Given the description of an element on the screen output the (x, y) to click on. 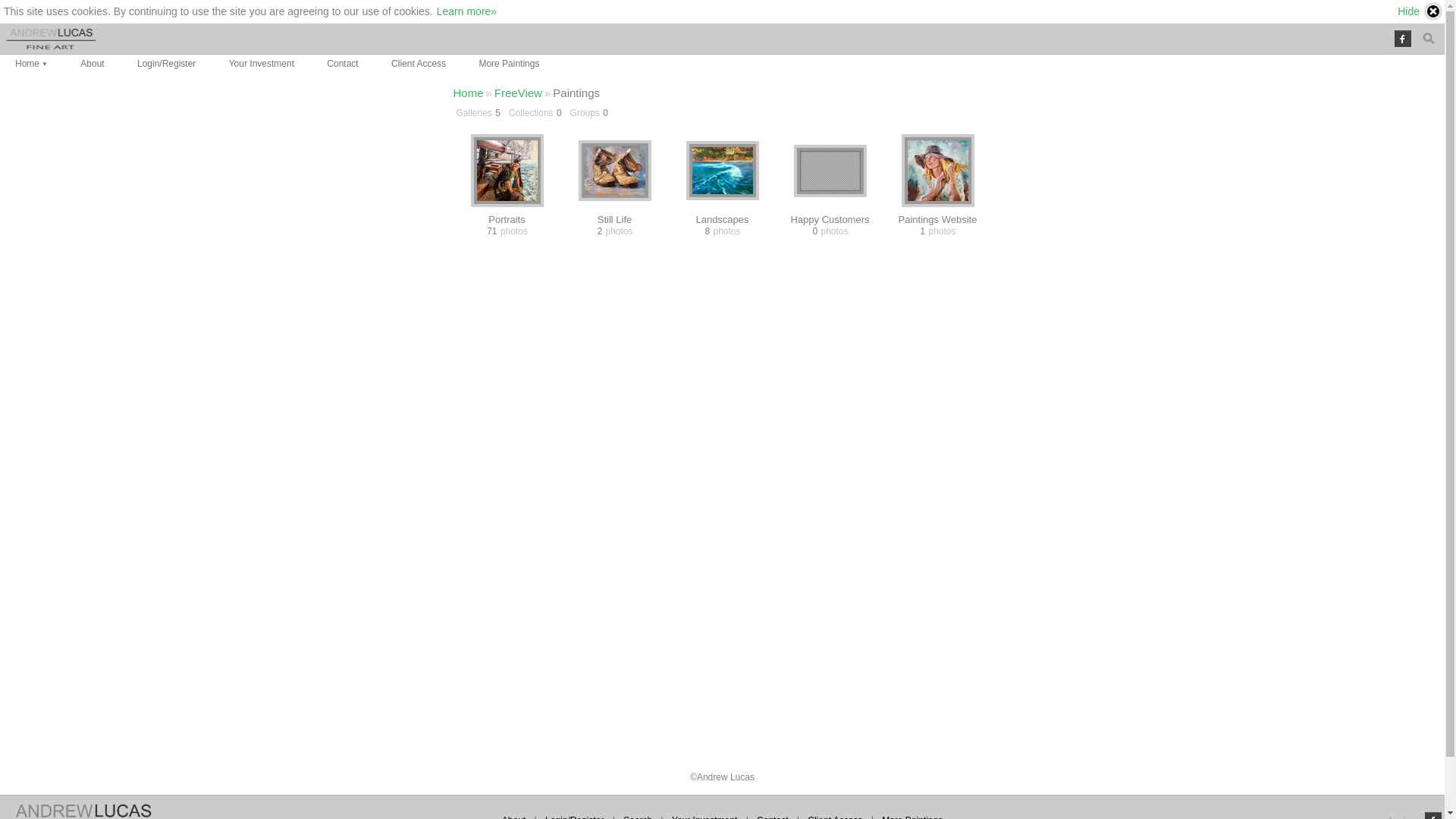
Login/Register Element type: text (166, 63)
Hide Element type: text (1419, 11)
Your Investment Element type: text (261, 63)
Contact Element type: text (342, 63)
FreeView Element type: text (518, 92)
Andrew Lucas Fine Art Element type: hover (51, 38)
More Paintings Element type: text (508, 63)
About Element type: text (92, 63)
Home Element type: text (468, 92)
Client Access Element type: text (418, 63)
